Given the description of an element on the screen output the (x, y) to click on. 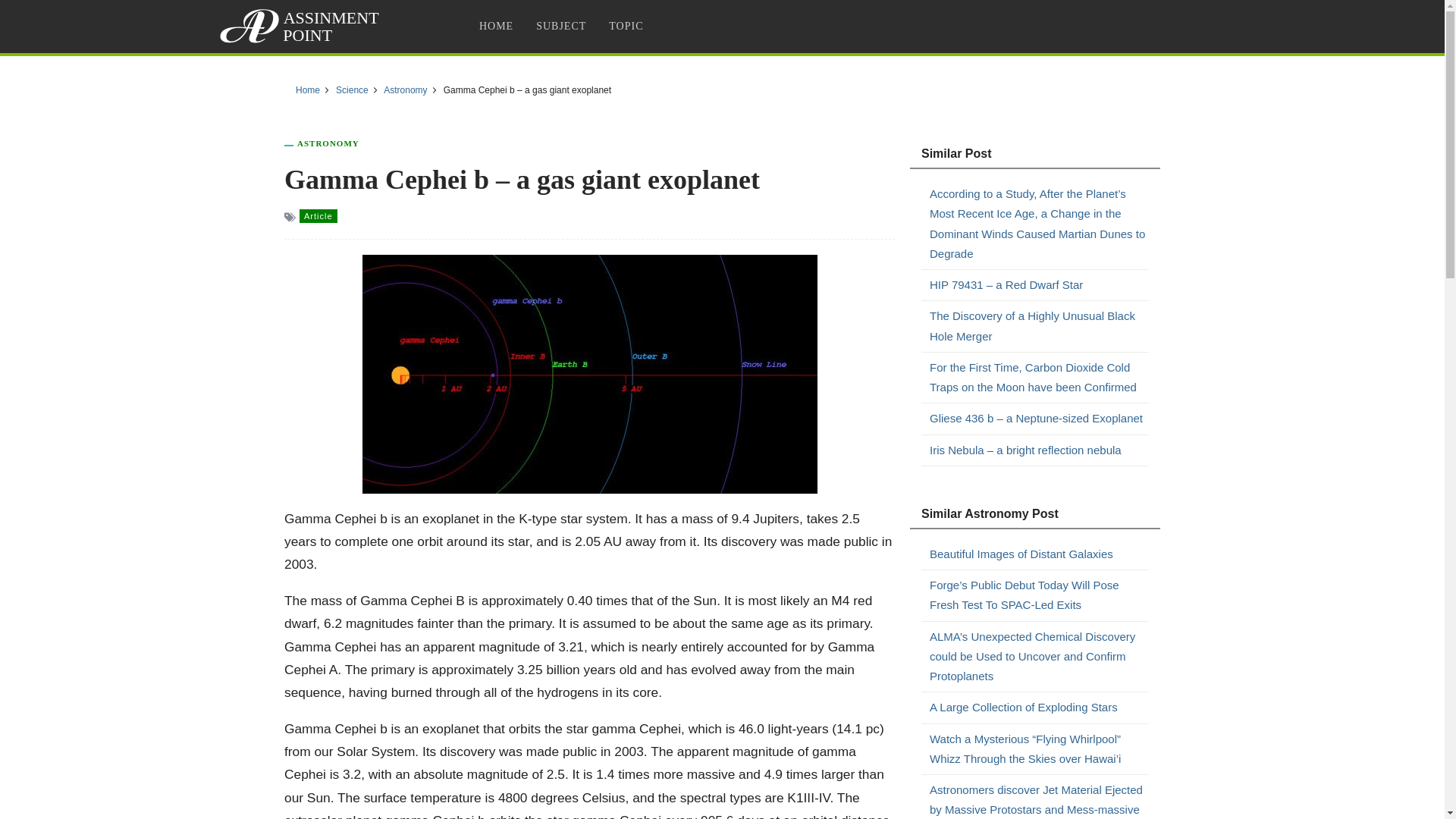
Beautiful Images of Distant Galaxies (1039, 554)
The Discovery of a Highly Unusual Black Hole Merger (1039, 326)
TOPIC (624, 26)
A Large Collection of Exploding Stars (1039, 707)
Article (318, 215)
SUBJECT (560, 26)
Astronomy (405, 90)
Article (318, 215)
Topic (624, 26)
Science (352, 90)
Astronomy (328, 143)
The Discovery of a Highly Unusual Black Hole Merger (1039, 326)
